Given the description of an element on the screen output the (x, y) to click on. 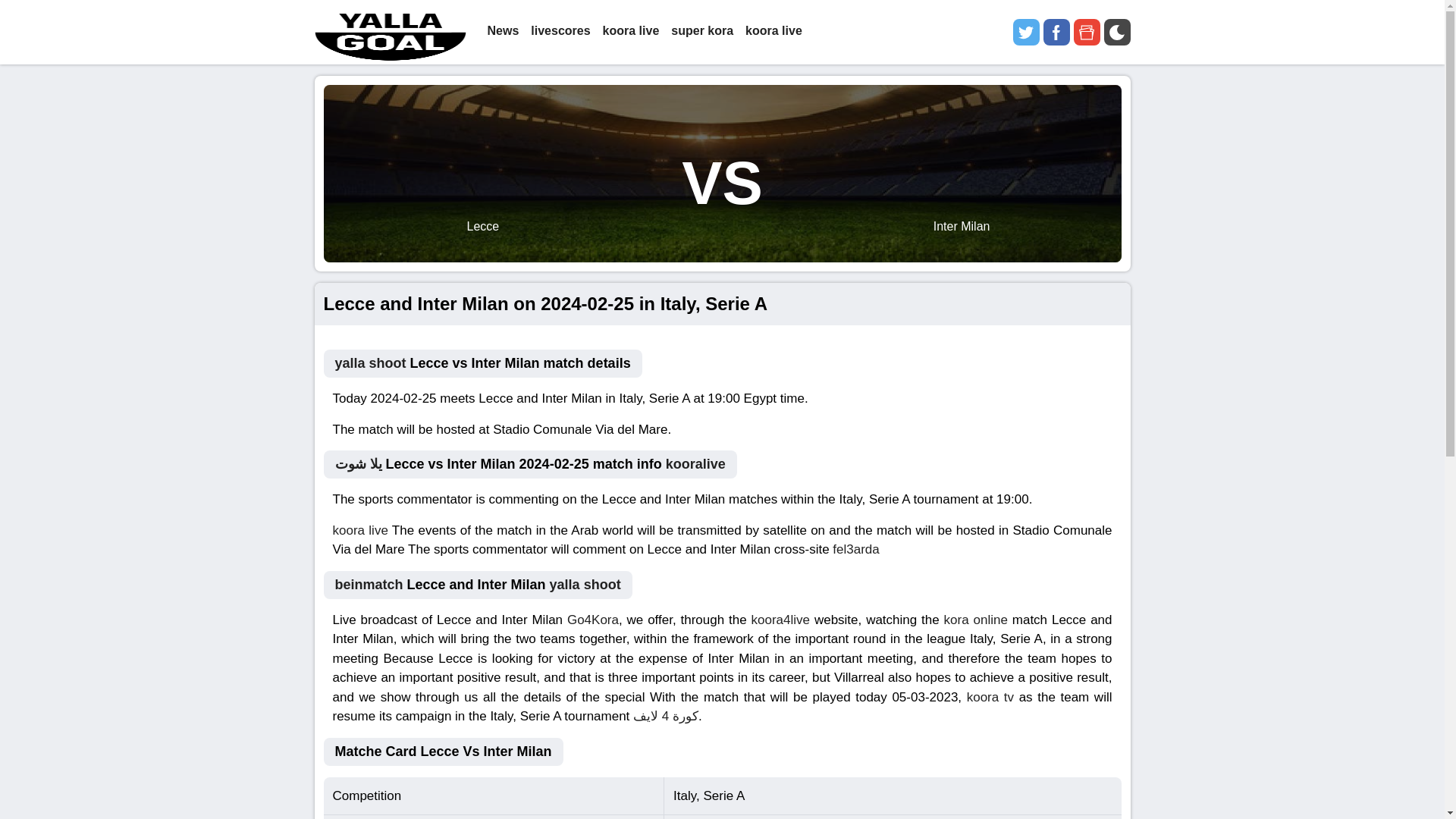
Go4Kora (592, 619)
koora tv (989, 697)
yalla shoot (585, 583)
beinmatch (368, 583)
yalla goal English yalla shoot Free Live Sports Stream (389, 32)
yalla shoot (370, 363)
livescores (559, 31)
kora online (975, 619)
super kora (702, 31)
koora live (359, 530)
fel3arda (855, 549)
kooralive (695, 463)
koora live (630, 31)
koora live (773, 31)
koora4live (780, 619)
